Given the description of an element on the screen output the (x, y) to click on. 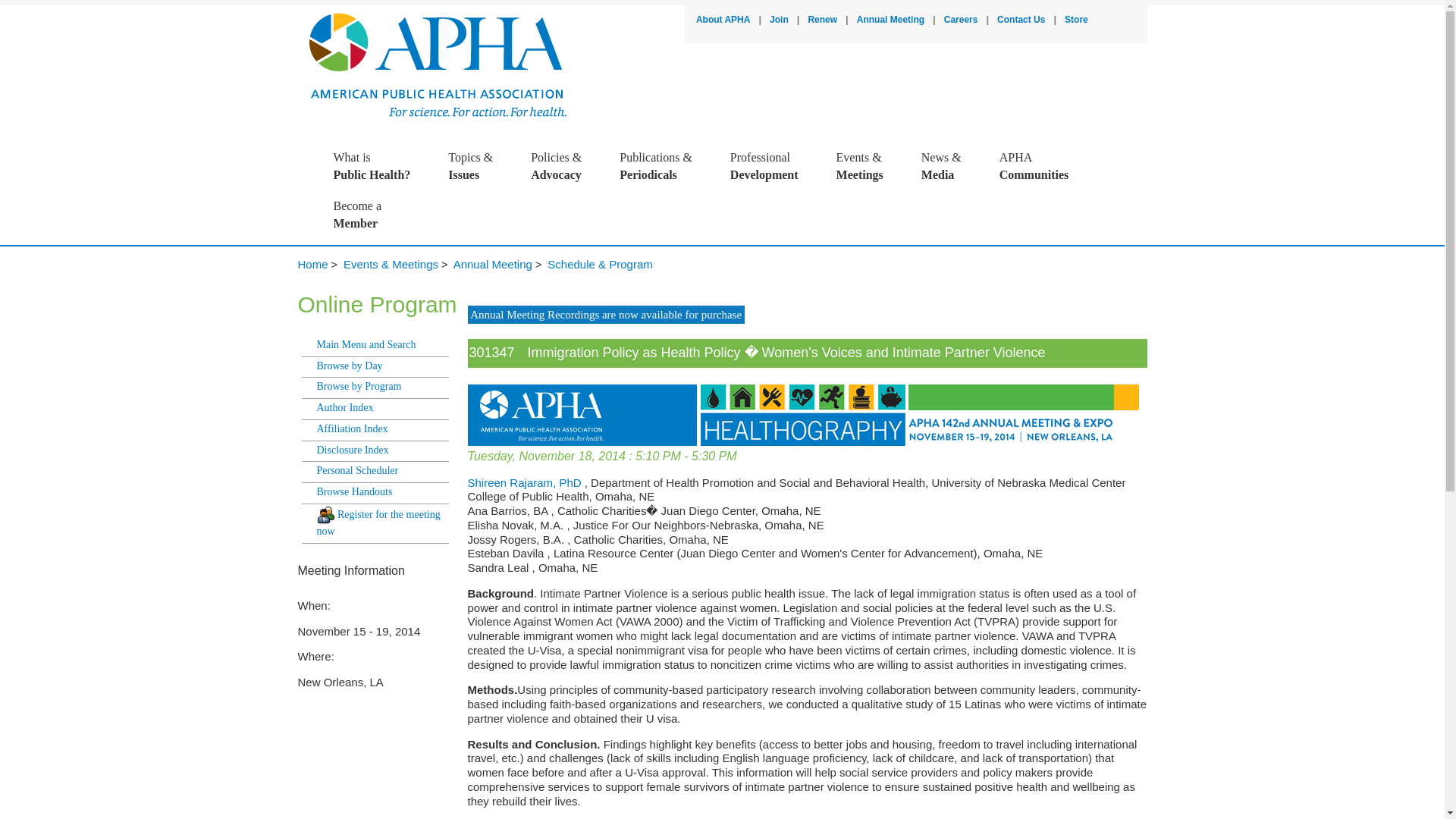
Renew (822, 19)
About APHA (772, 166)
Store (378, 166)
Contact Us (723, 19)
Careers (1075, 19)
Annual Meeting (1021, 19)
Join (960, 19)
APHA Annual Meeting Recordings (890, 19)
